Given the description of an element on the screen output the (x, y) to click on. 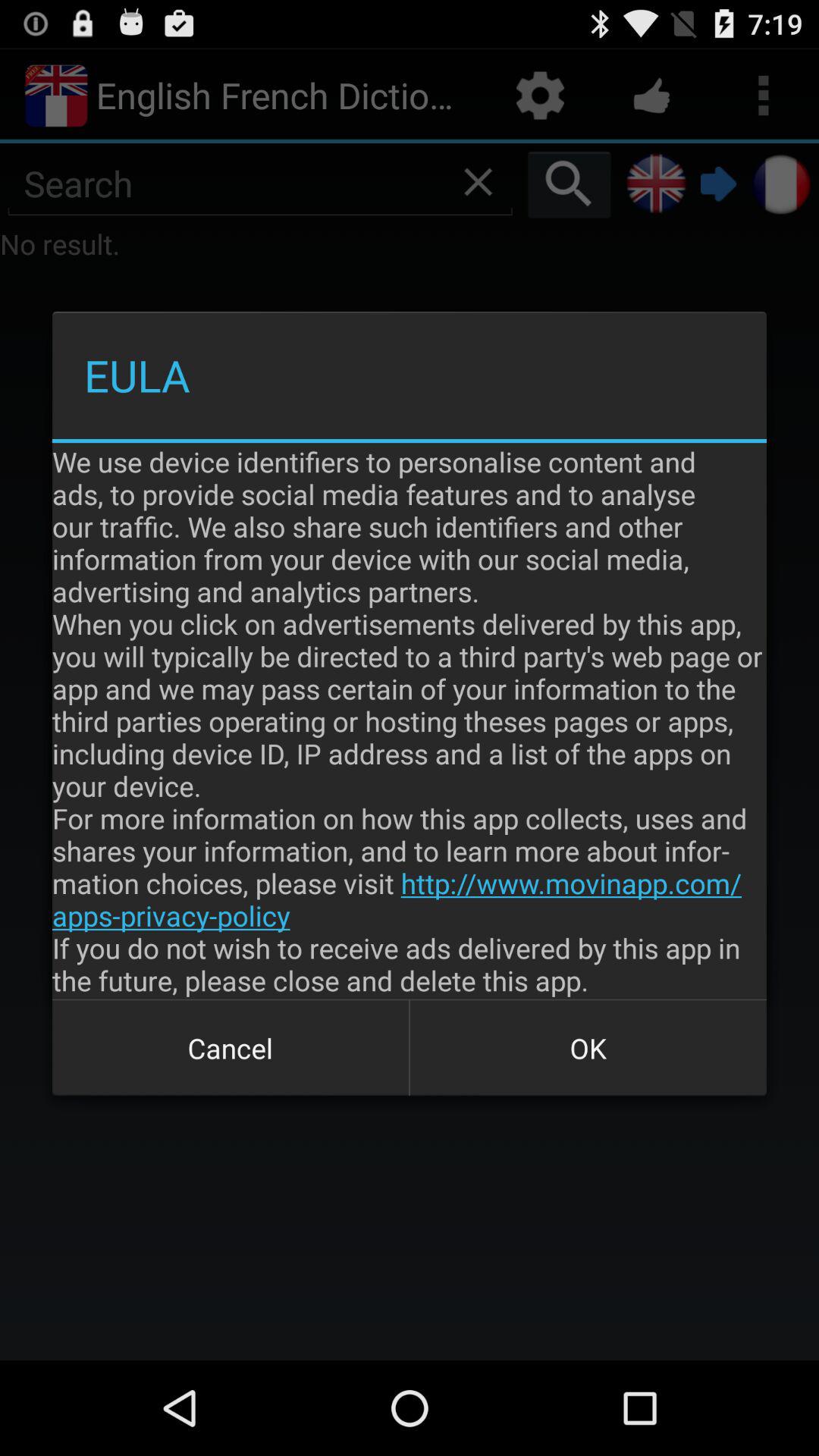
select the button to the right of the cancel icon (588, 1047)
